Given the description of an element on the screen output the (x, y) to click on. 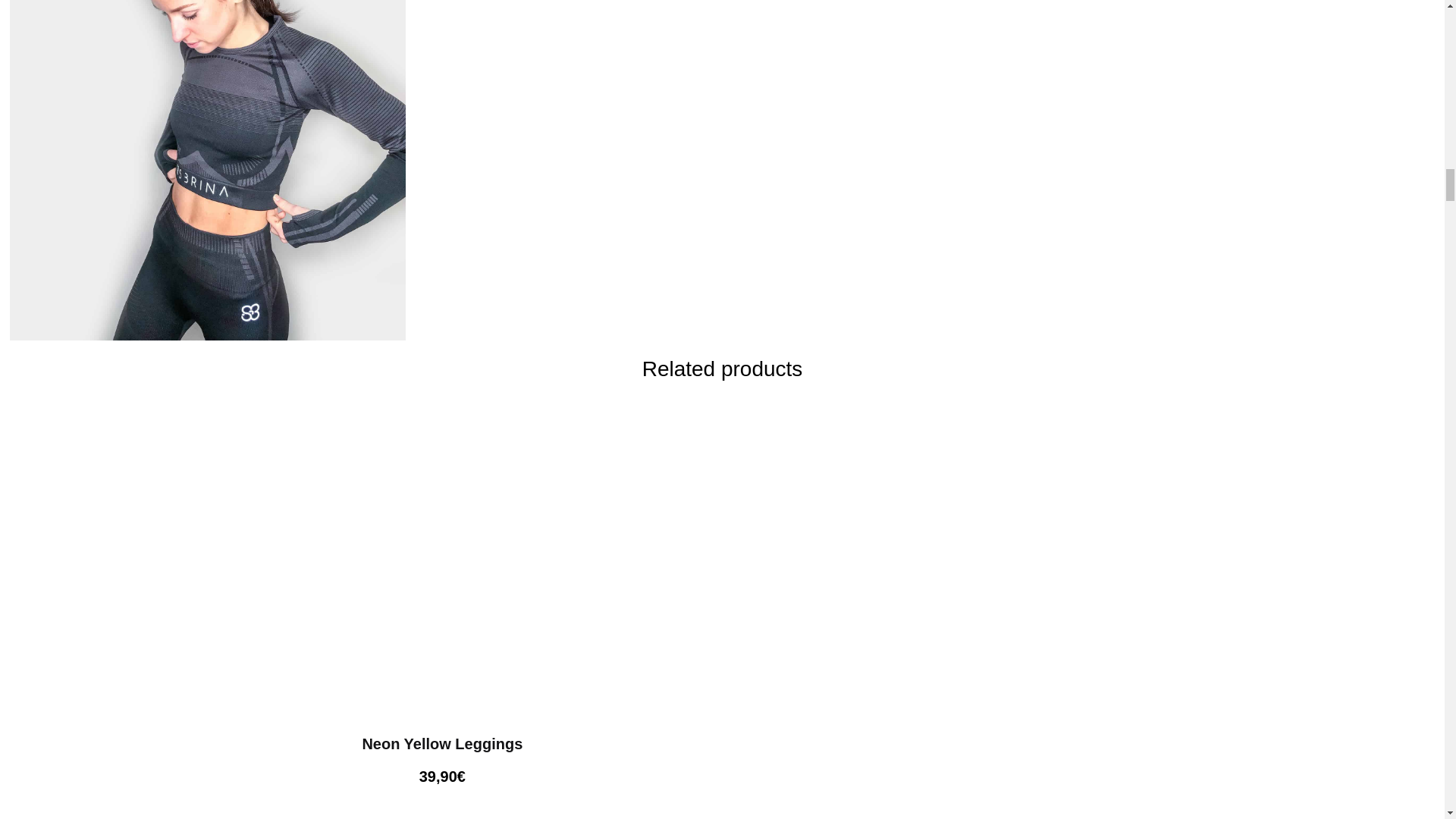
Neon Pink Leggings (442, 804)
